Given the description of an element on the screen output the (x, y) to click on. 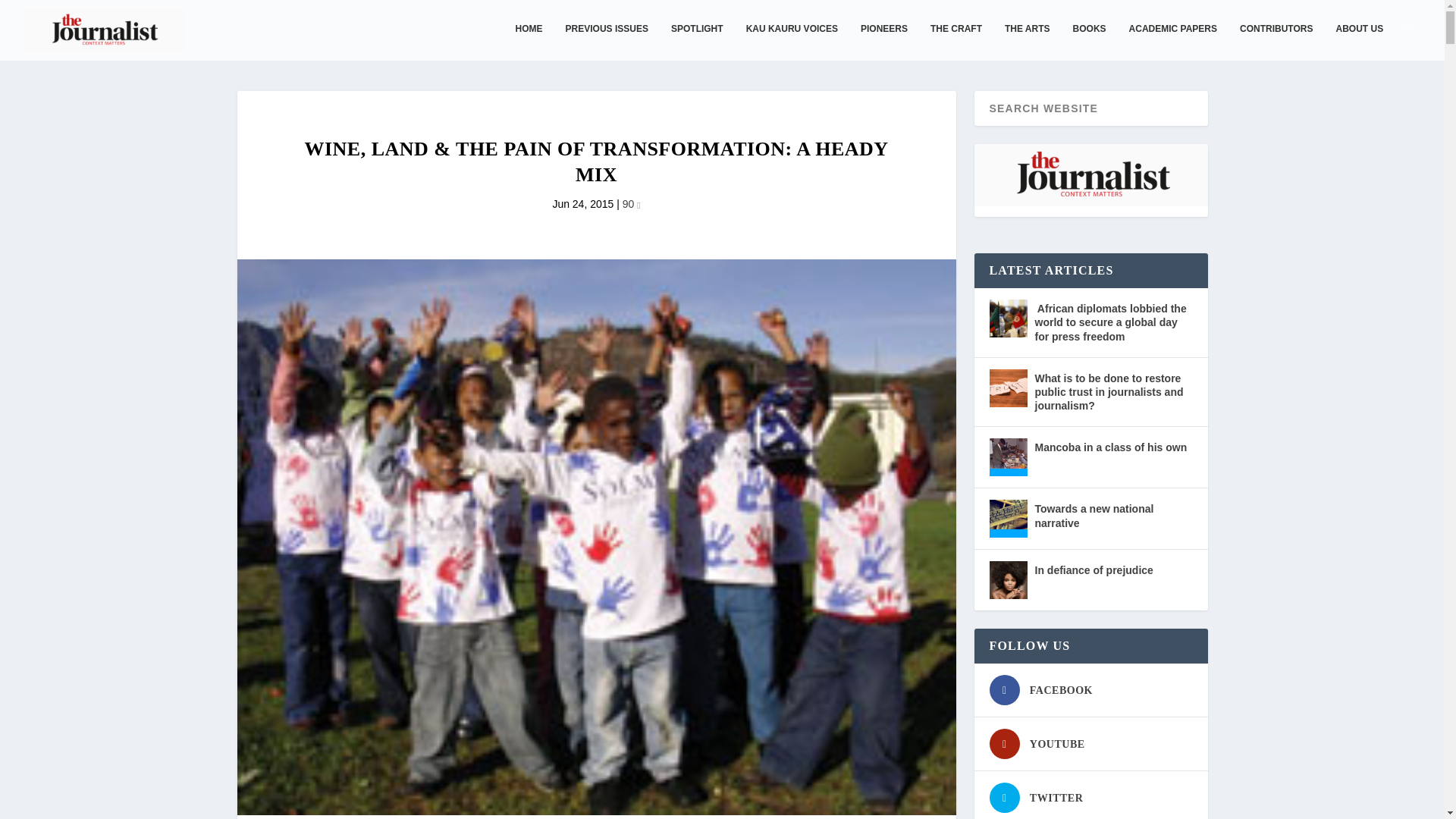
CONTRIBUTORS (1276, 41)
PREVIOUS ISSUES (606, 41)
THE CRAFT (955, 41)
ACADEMIC PAPERS (1173, 41)
ABOUT US (1359, 41)
90 (631, 203)
SPOTLIGHT (697, 41)
THE ARTS (1026, 41)
PIONEERS (883, 41)
KAU KAURU VOICES (791, 41)
